Given the description of an element on the screen output the (x, y) to click on. 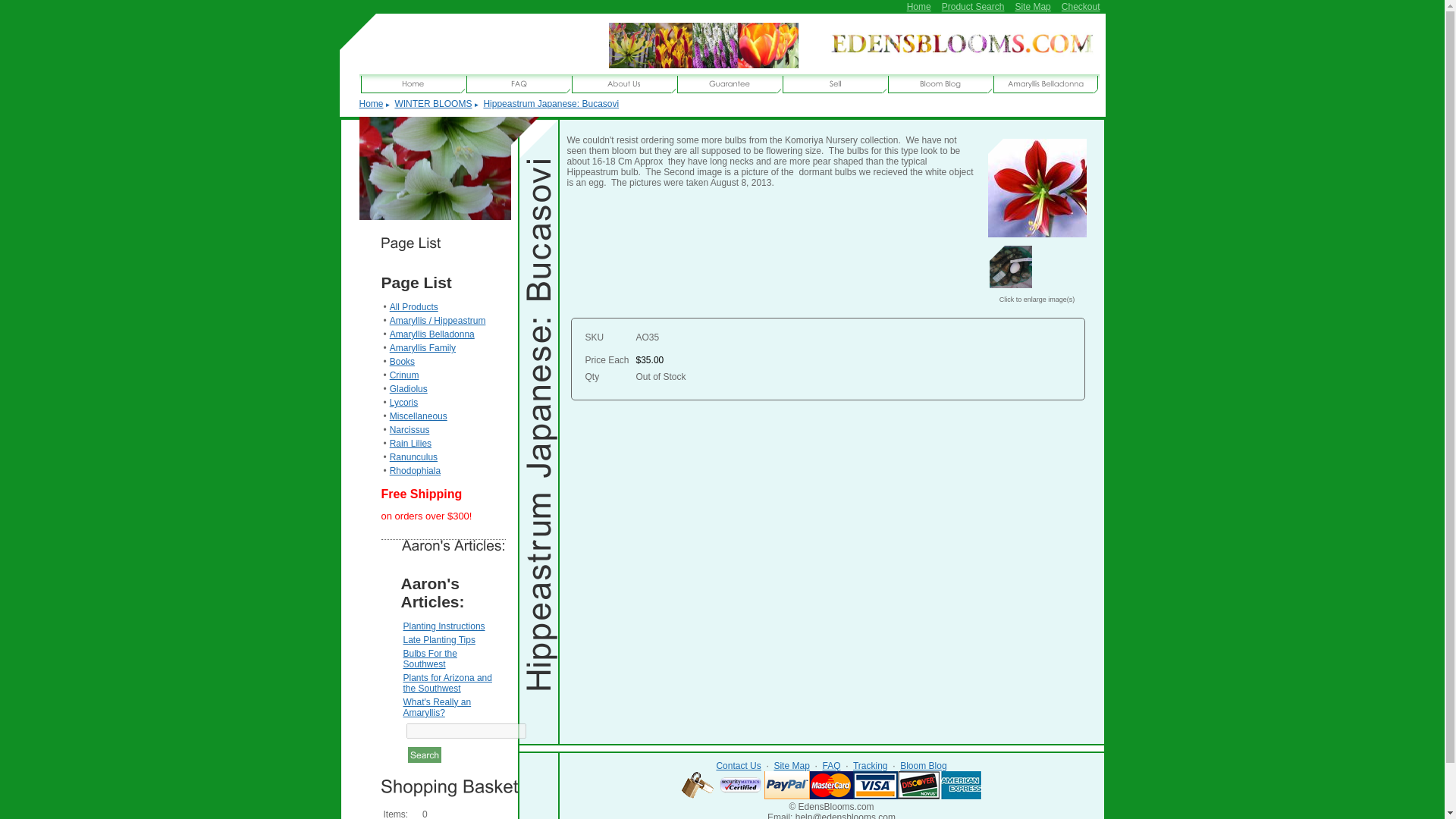
Product Search (973, 6)
Rhodophiala (415, 470)
Site Map (1031, 6)
Bloom Blog (922, 765)
All Products (414, 307)
Lycoris (404, 402)
Home (919, 6)
Checkout (1080, 6)
Tracking (870, 765)
Site Map (791, 765)
Hippeastrum Japanese: Bucasovi (1036, 187)
Hippeastrum Japanese: Bucasovi (550, 103)
Ranunculus (414, 457)
What's Really an Amaryllis? (437, 707)
Contact Us (738, 765)
